Given the description of an element on the screen output the (x, y) to click on. 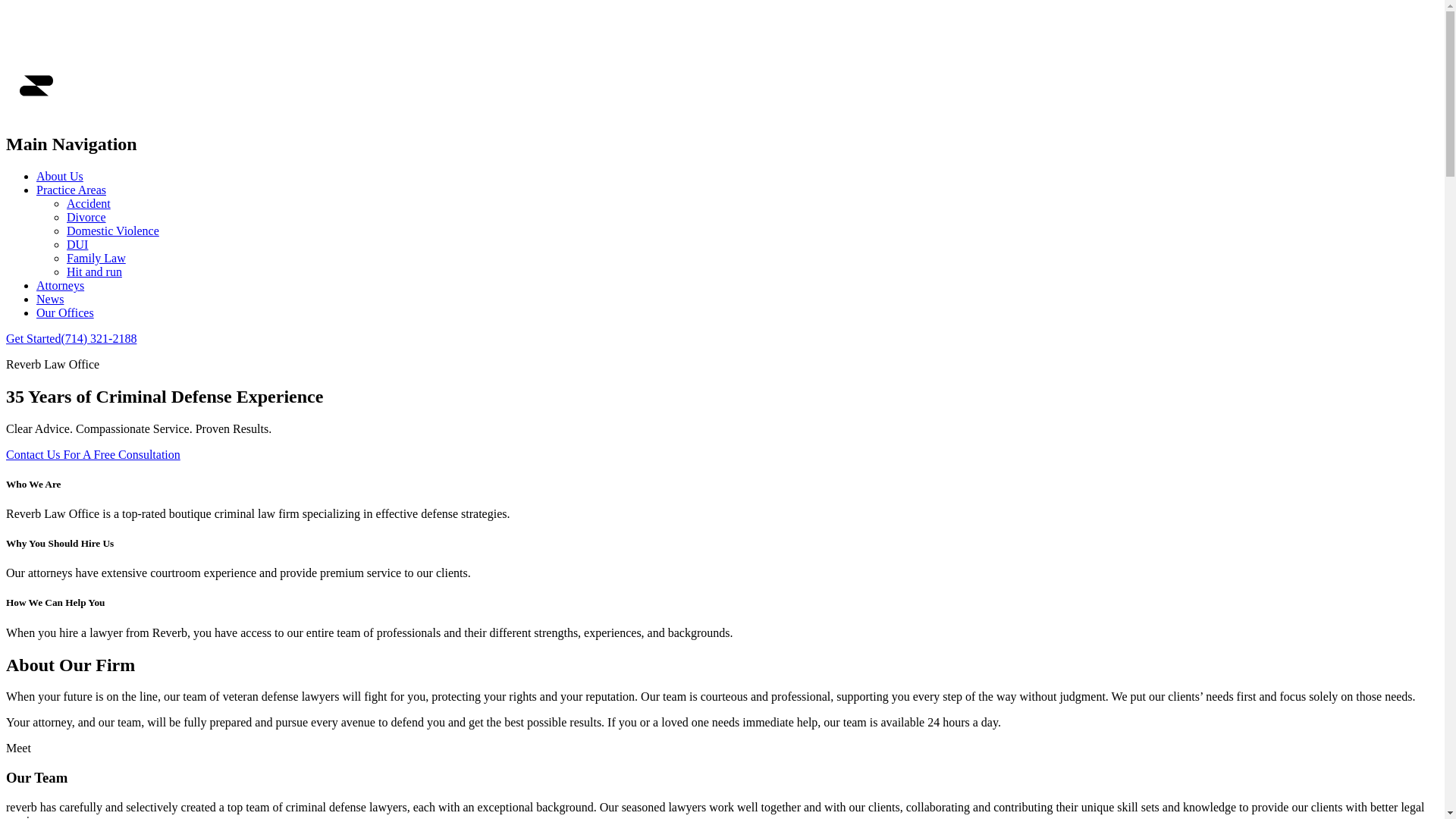
Hit and run Element type: text (94, 271)
Divorce Element type: text (86, 216)
Practice Areas Element type: text (71, 189)
Accident Element type: text (88, 203)
Get Started Element type: text (33, 338)
About Us Element type: text (59, 175)
Family Law Element type: text (95, 257)
Domestic Violence Element type: text (112, 230)
Contact Us For A Free Consultation Element type: text (93, 454)
(714) 321-2188 Element type: text (98, 338)
Our Offices Element type: text (65, 312)
Attorneys Element type: text (60, 285)
DUI Element type: text (76, 244)
News Element type: text (49, 298)
